Given the description of an element on the screen output the (x, y) to click on. 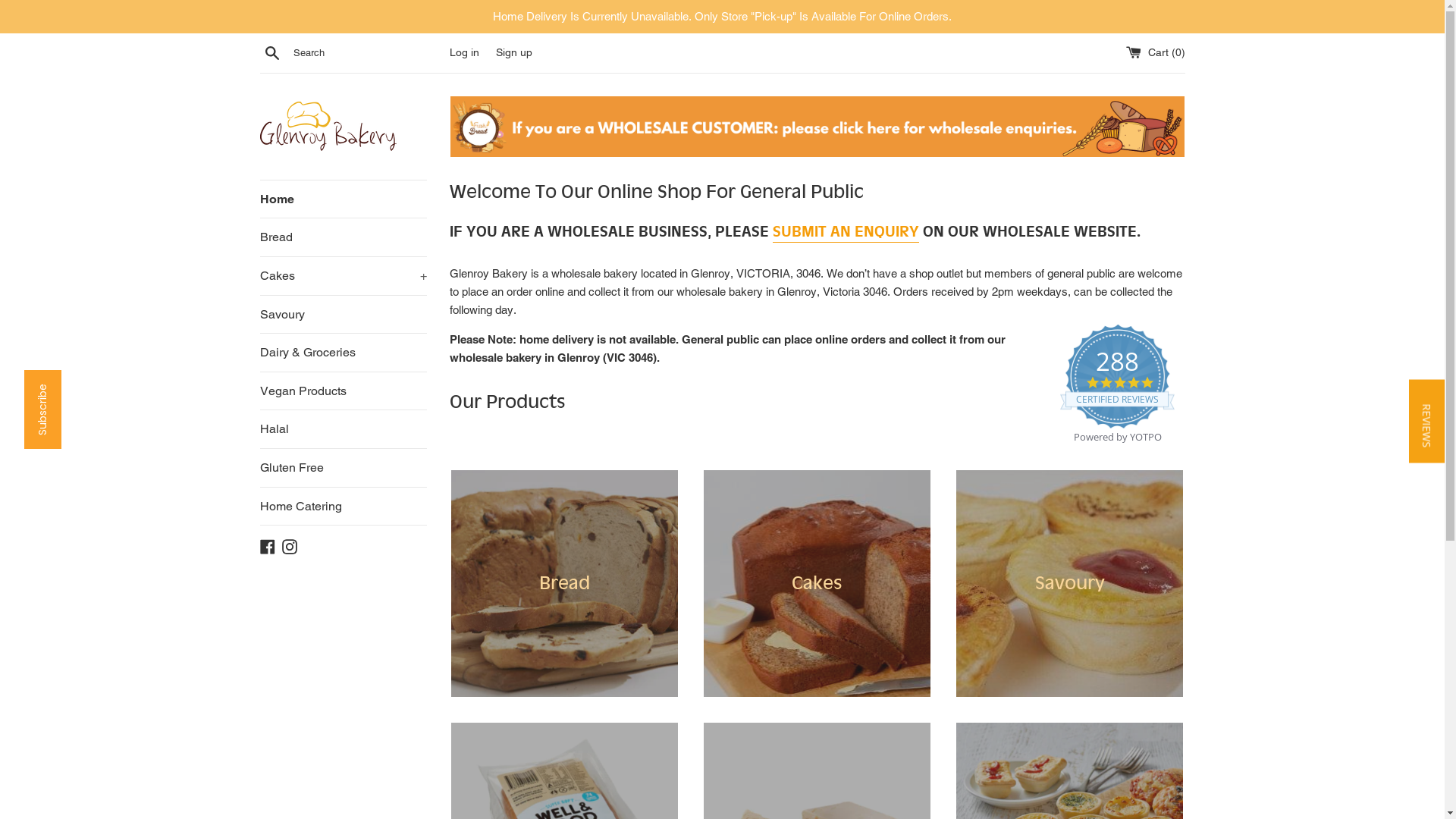
Cakes
+ Element type: text (342, 275)
Savoury Element type: text (1069, 583)
Log in Element type: text (463, 52)
Vegan Products Element type: text (342, 391)
Cakes Element type: text (816, 583)
Bread Element type: text (342, 237)
Cart (0) Element type: text (1154, 52)
SUBMIT AN ENQUIRY Element type: text (844, 232)
Home Element type: text (342, 199)
Gluten Free Element type: text (342, 467)
Sign up Element type: text (513, 52)
Dairy & Groceries Element type: text (342, 352)
Instagram Element type: text (289, 545)
Subscribe Element type: text (63, 388)
Home Catering Element type: text (342, 506)
Savoury Element type: text (342, 314)
Bread Element type: text (563, 583)
Facebook Element type: text (266, 545)
Search Element type: text (271, 52)
Halal Element type: text (342, 429)
